Given the description of an element on the screen output the (x, y) to click on. 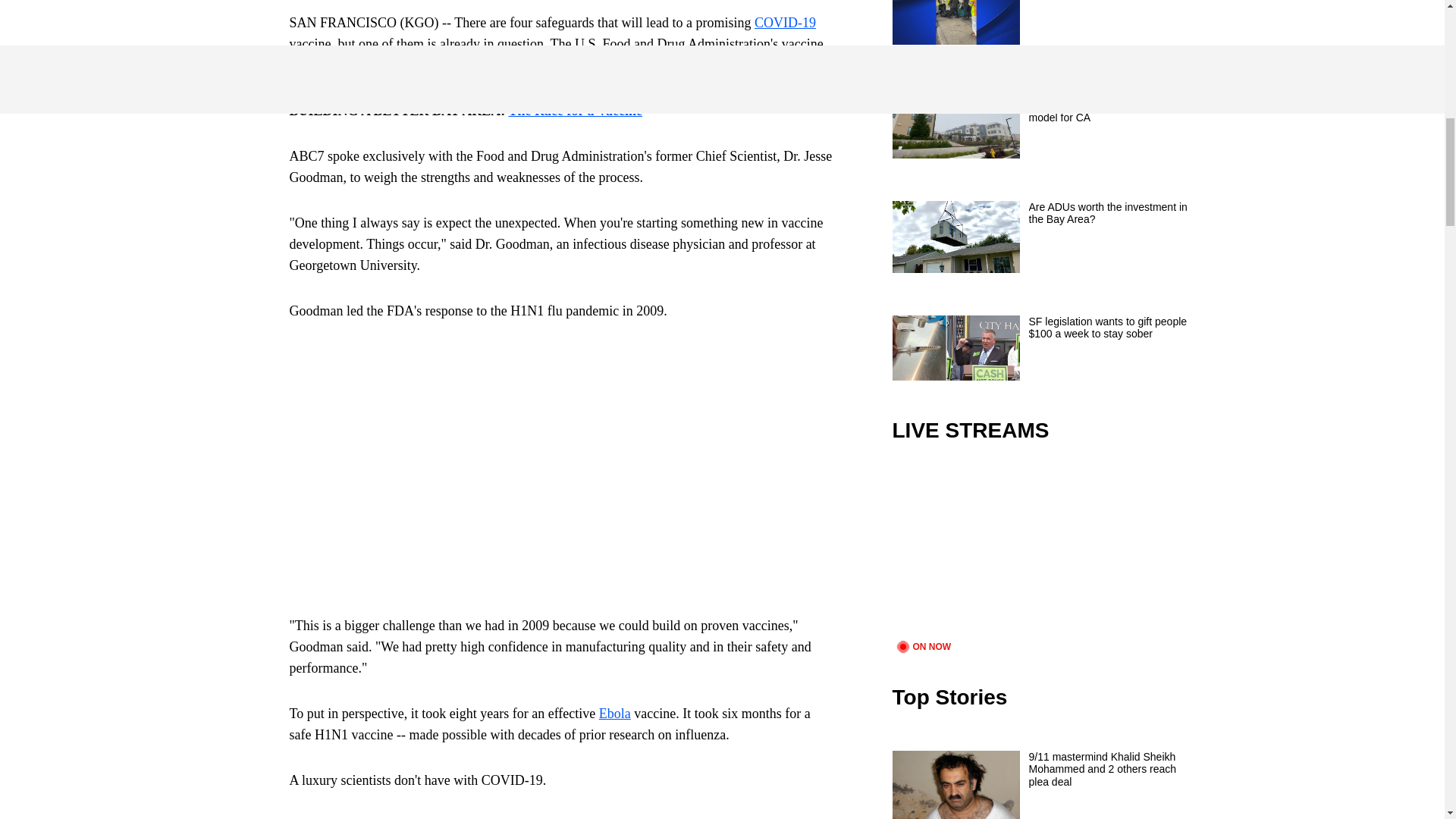
video.title (1043, 551)
